Given the description of an element on the screen output the (x, y) to click on. 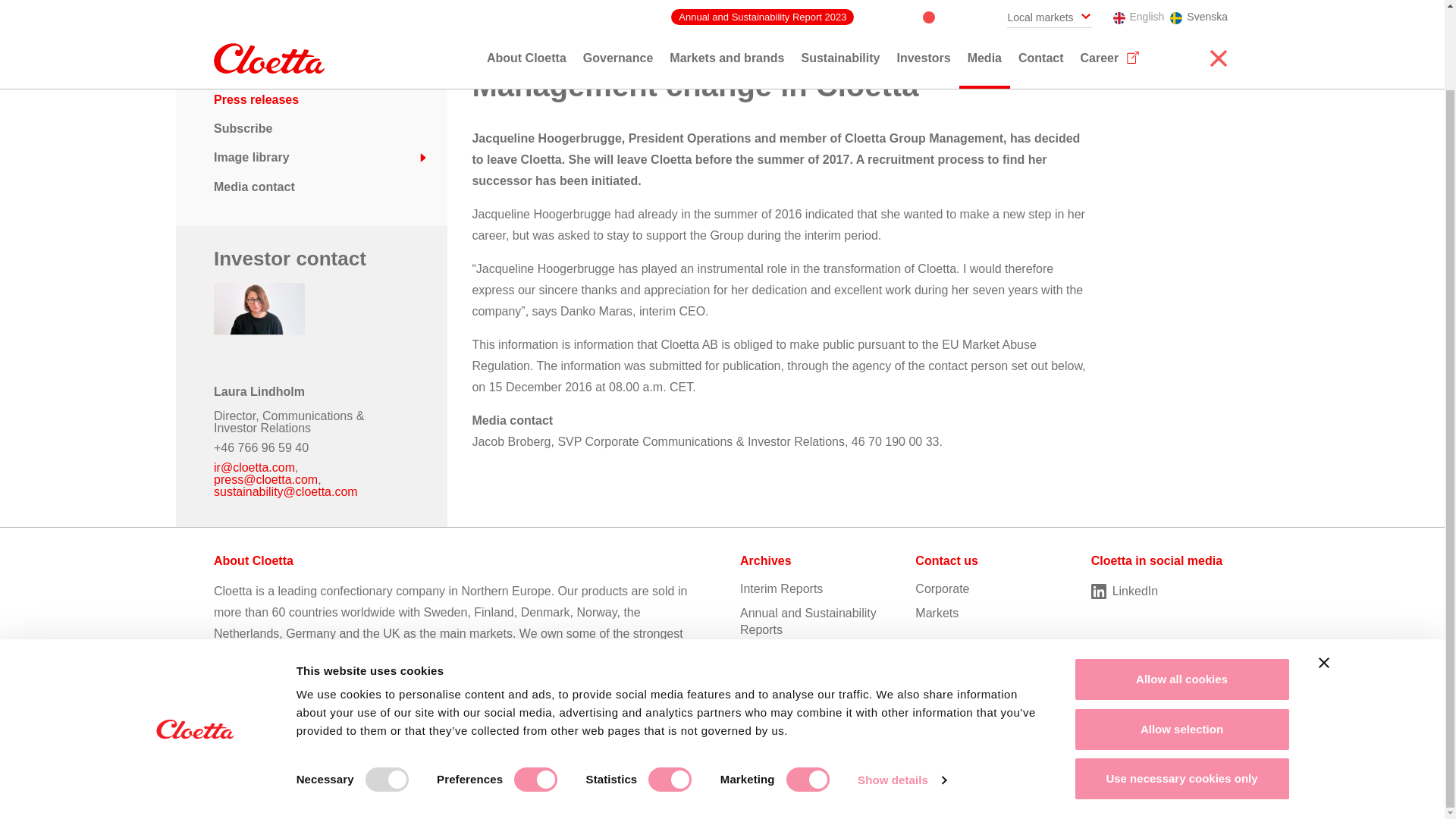
Use necessary cookies only (1182, 688)
Allow selection (1182, 638)
Allow all cookies (1182, 588)
Show details (900, 689)
